Given the description of an element on the screen output the (x, y) to click on. 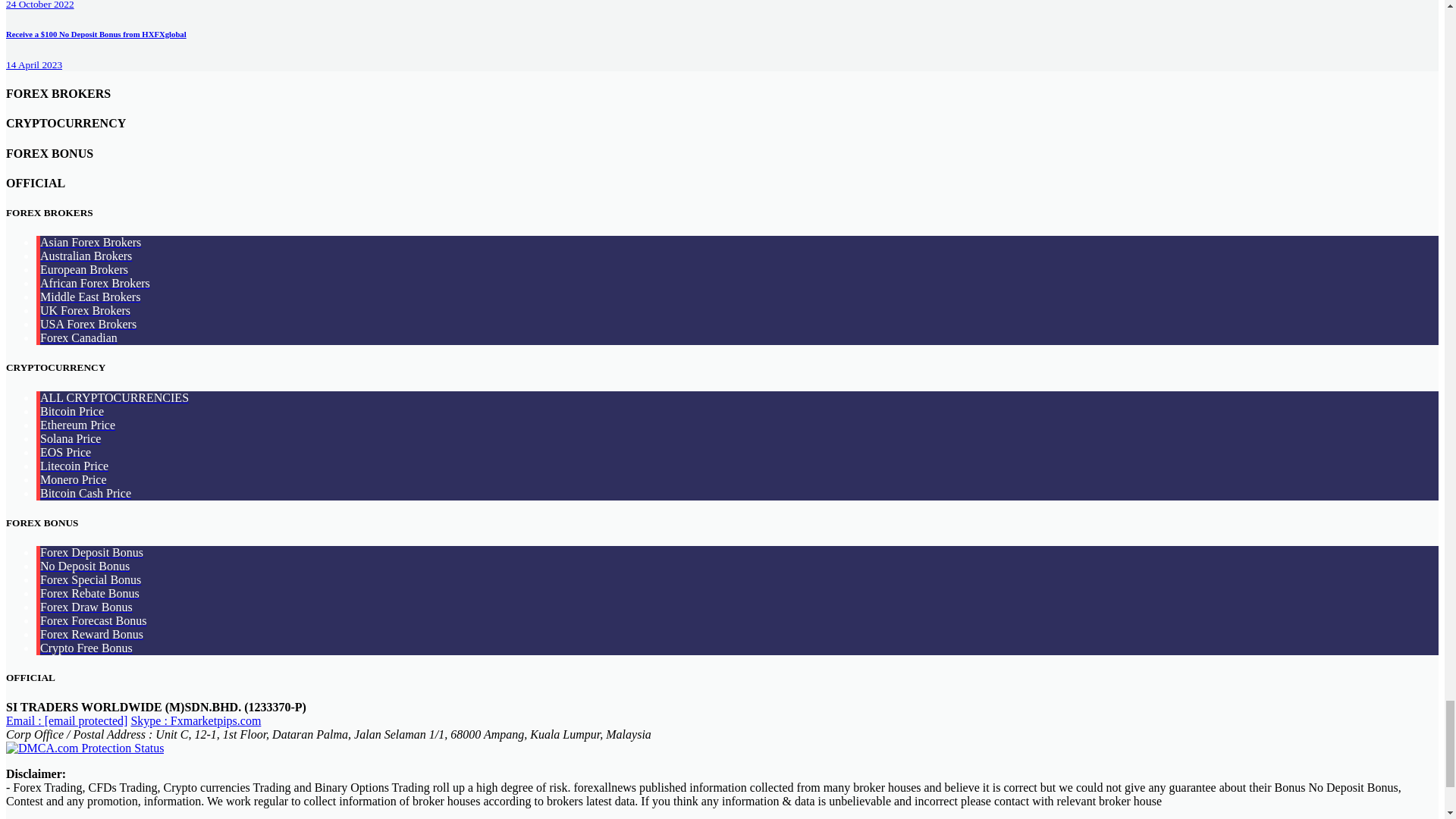
DMCA.com Protection Status (84, 748)
